Given the description of an element on the screen output the (x, y) to click on. 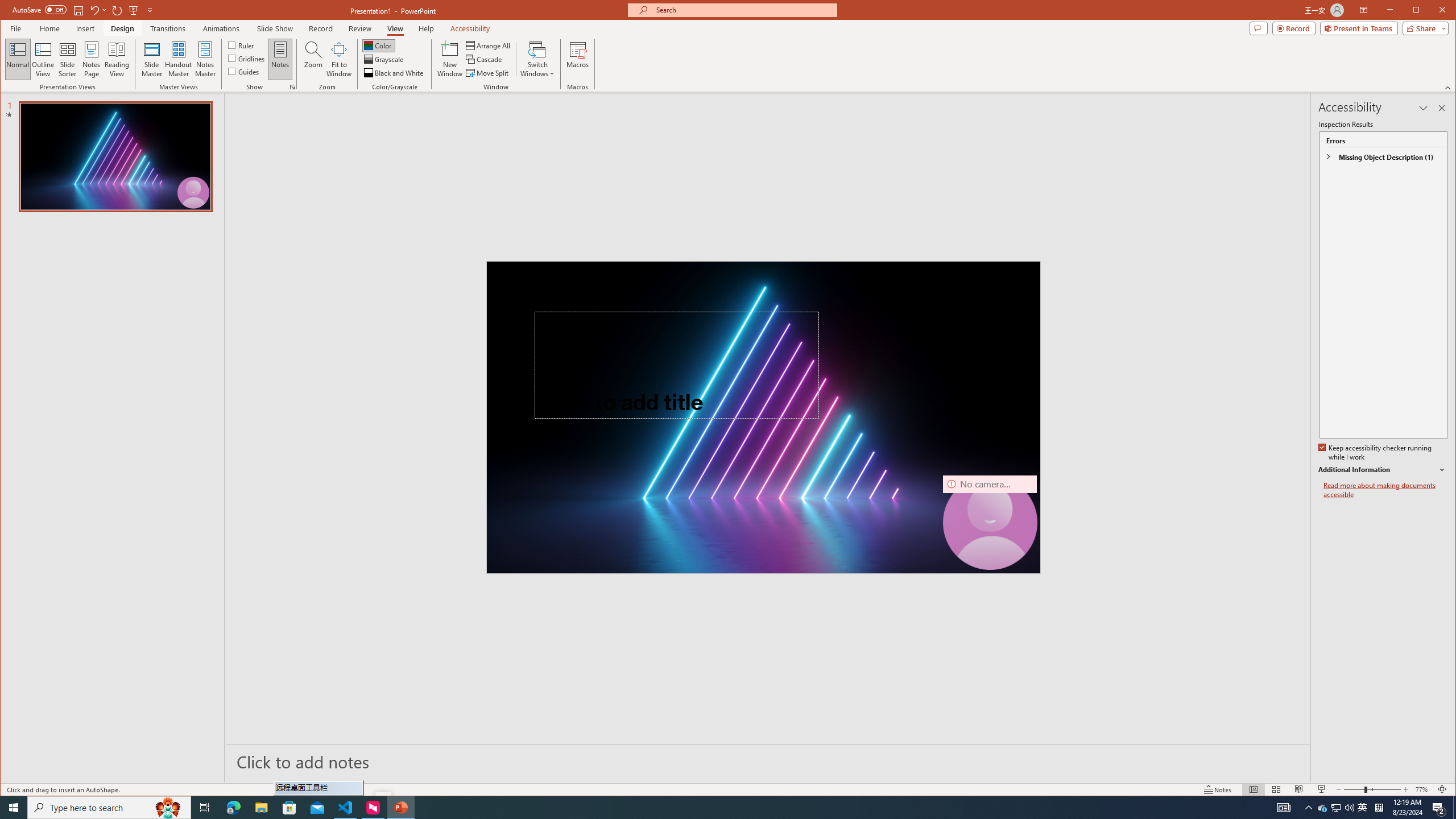
Subtitle TextBox (649, 466)
Grid Settings... (292, 86)
Additional Information (1382, 469)
Ruler (241, 44)
Macros (576, 59)
Neon laser lights aligned to form a triangle (762, 417)
Keep accessibility checker running while I work (1375, 452)
